Given the description of an element on the screen output the (x, y) to click on. 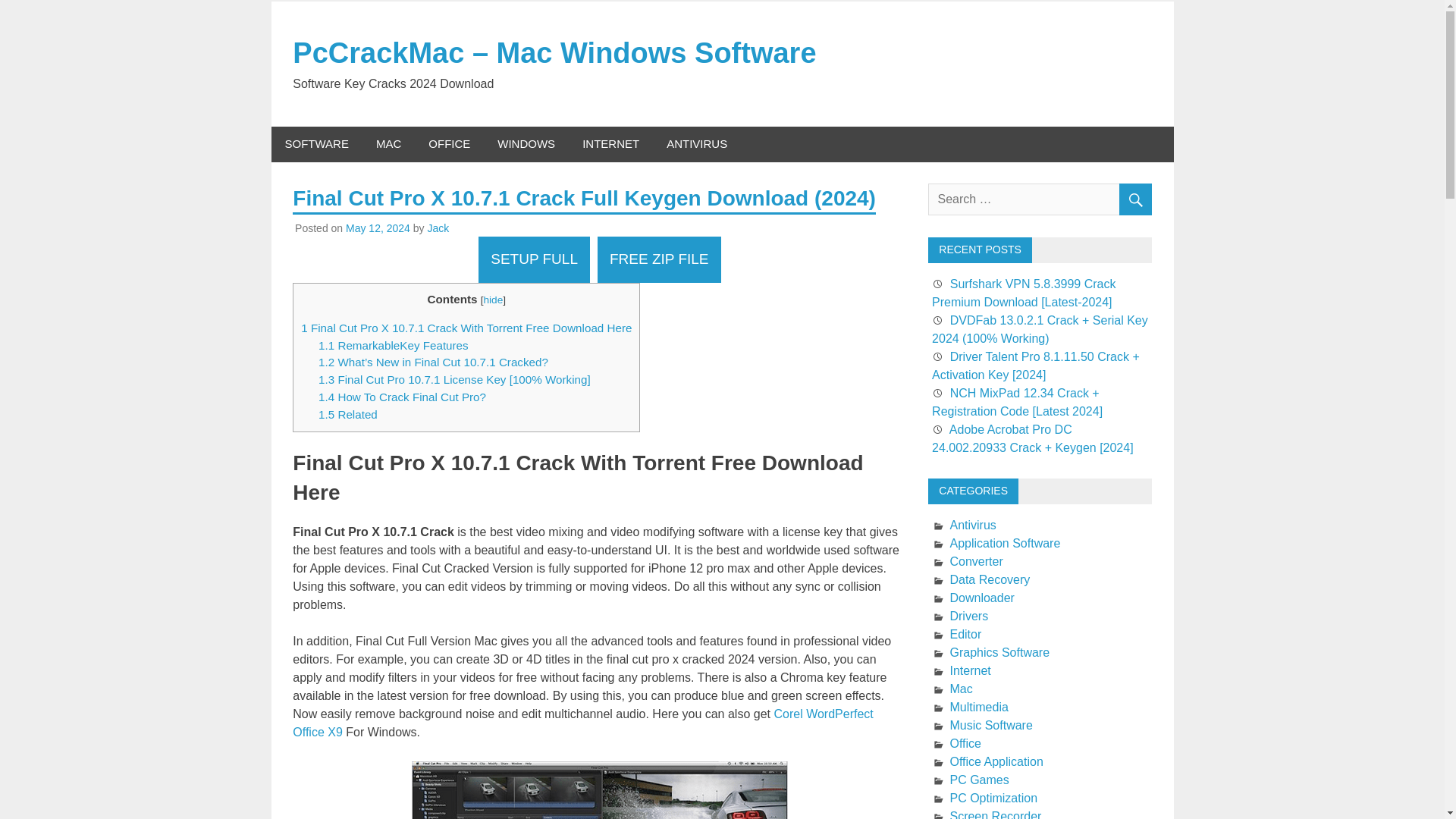
1.5 Related (347, 413)
Jack (437, 227)
OFFICE (448, 144)
SOFTWARE (316, 144)
WINDOWS (526, 144)
View all posts by Jack (437, 227)
1.1 RemarkableKey Features (393, 345)
SETUP FULL (534, 259)
Corel WordPerfect Office X9 (582, 722)
FREE ZIP FILE (658, 259)
INTERNET (610, 144)
MAC (388, 144)
hide (492, 299)
1.4 How To Crack Final Cut Pro? (402, 396)
